Given the description of an element on the screen output the (x, y) to click on. 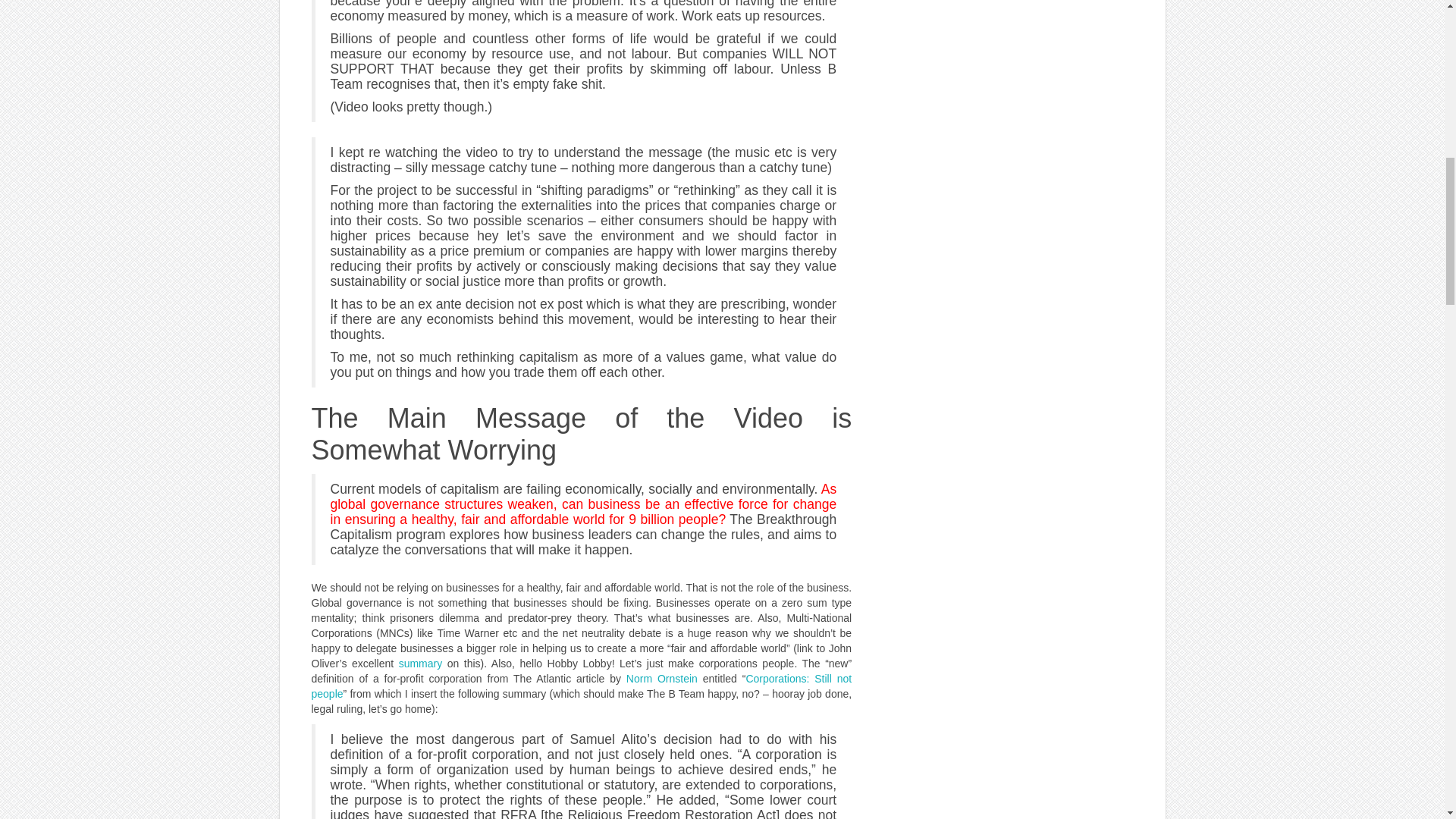
Norm Ornstein (661, 678)
Corporations: Still not people (581, 686)
summary (420, 663)
